Given the description of an element on the screen output the (x, y) to click on. 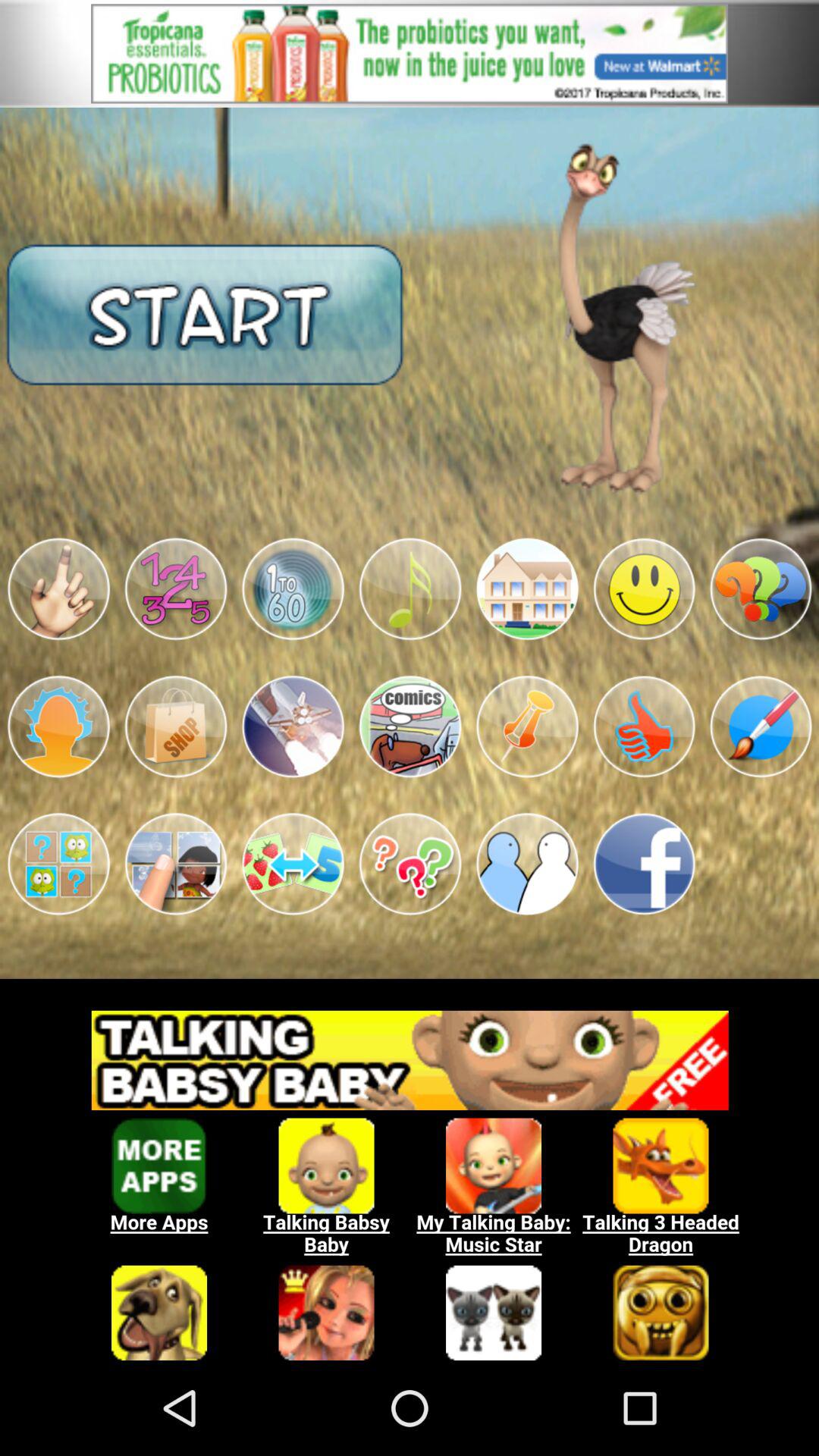
open shop (175, 726)
